Given the description of an element on the screen output the (x, y) to click on. 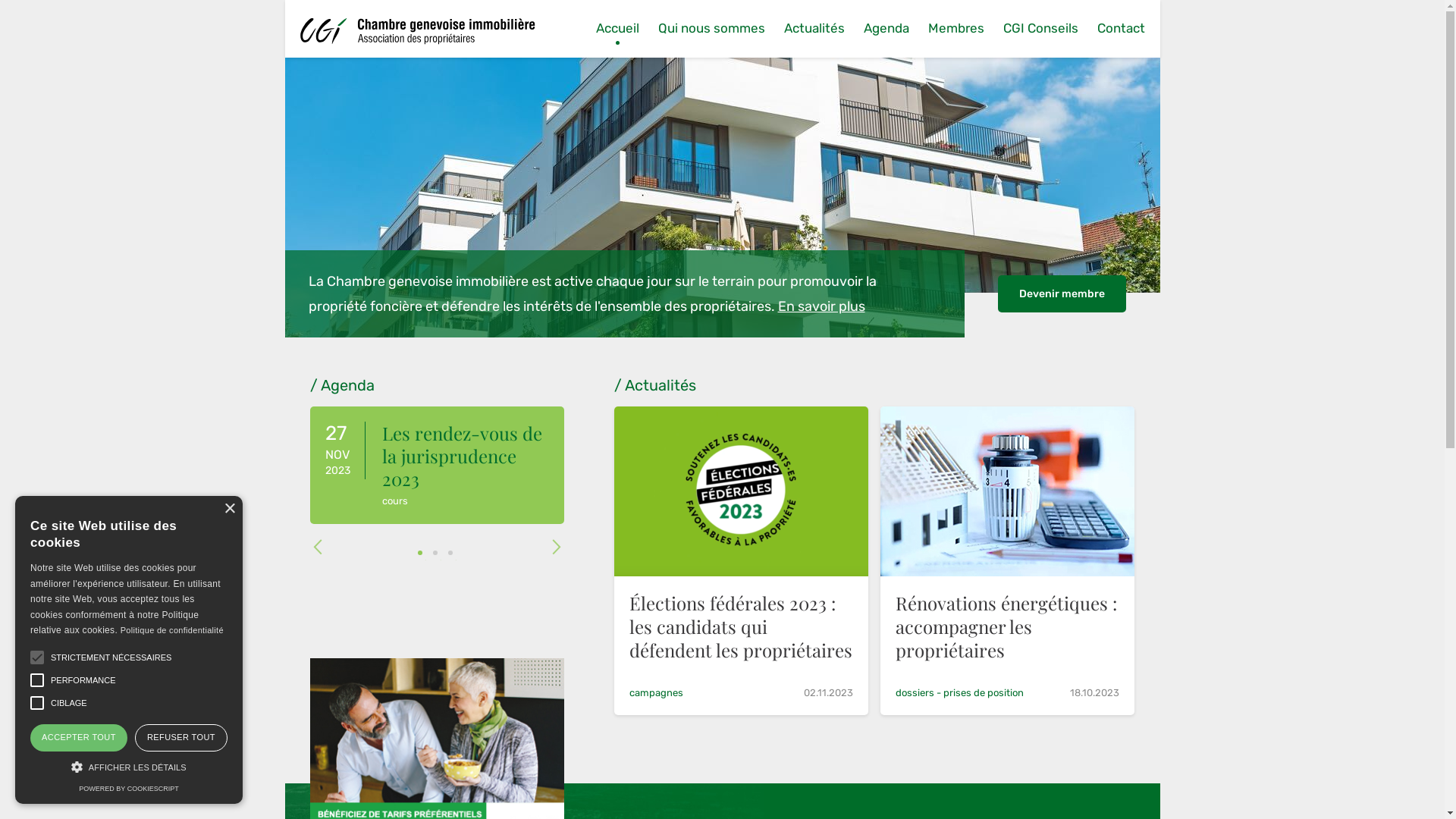
3 Element type: text (450, 552)
NEXT Element type: text (556, 545)
Devenir membre Element type: text (1061, 293)
2 Element type: text (435, 552)
POWERED BY COOKIESCRIPT Element type: text (128, 788)
Membres Element type: text (956, 28)
CGI Conseils Element type: text (1039, 28)
Accueil Element type: text (617, 28)
Contact Element type: text (1120, 28)
1 Element type: text (419, 552)
En savoir plus Element type: text (821, 306)
Qui nous sommes Element type: text (711, 28)
Agenda Element type: text (885, 28)
Les rendez-vous de la jurisprudence 2023 Element type: text (462, 455)
PREVIOUS Element type: text (317, 545)
